Given the description of an element on the screen output the (x, y) to click on. 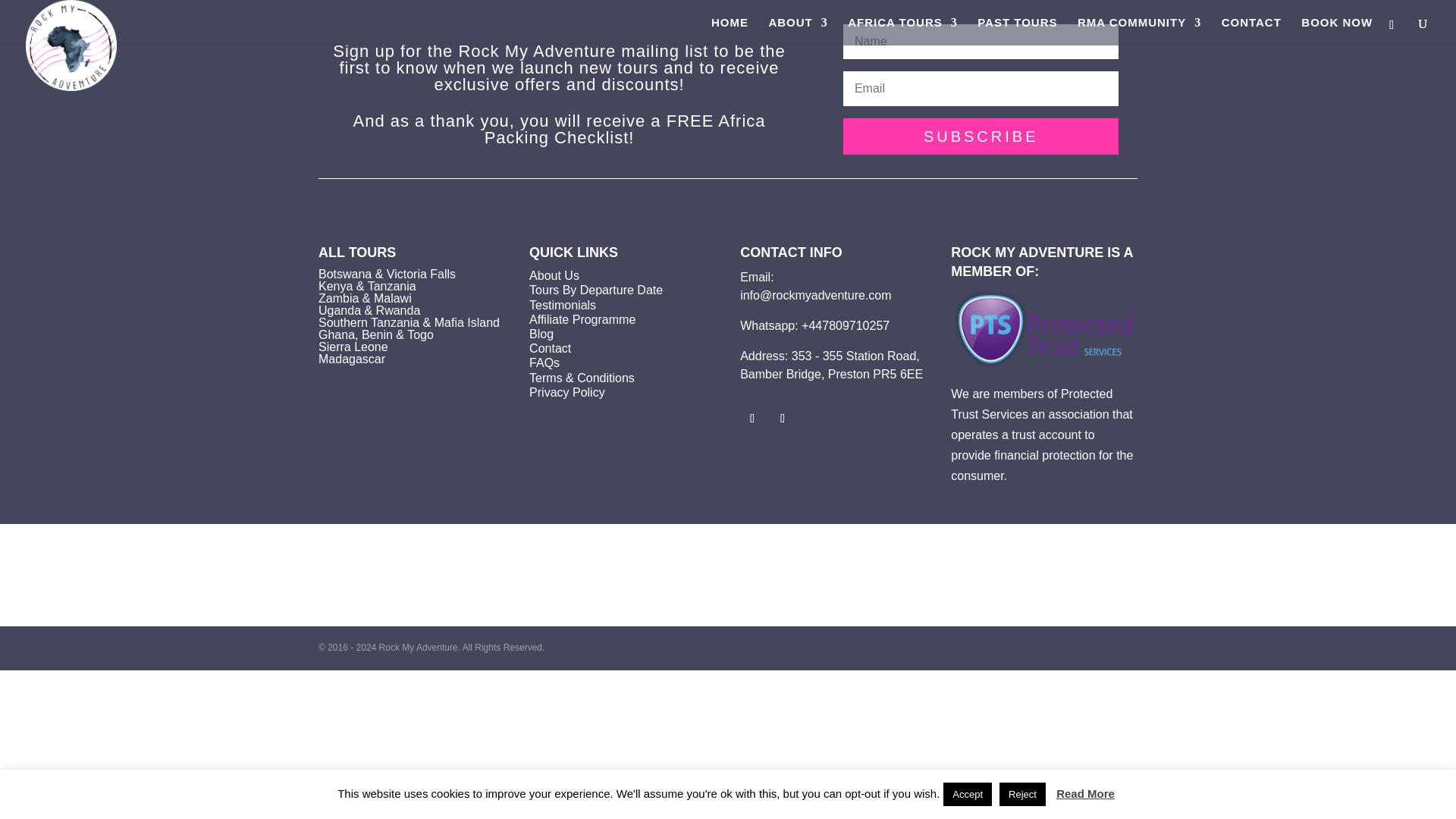
ABOUT (797, 31)
RMA COMMUNITY (1139, 31)
PAST TOURS (1016, 31)
BOOK NOW (1337, 31)
AFRICA TOURS (902, 31)
Follow on Instagram (751, 418)
CONTACT (1251, 31)
Follow on Facebook (782, 418)
HOME (729, 31)
